Given the description of an element on the screen output the (x, y) to click on. 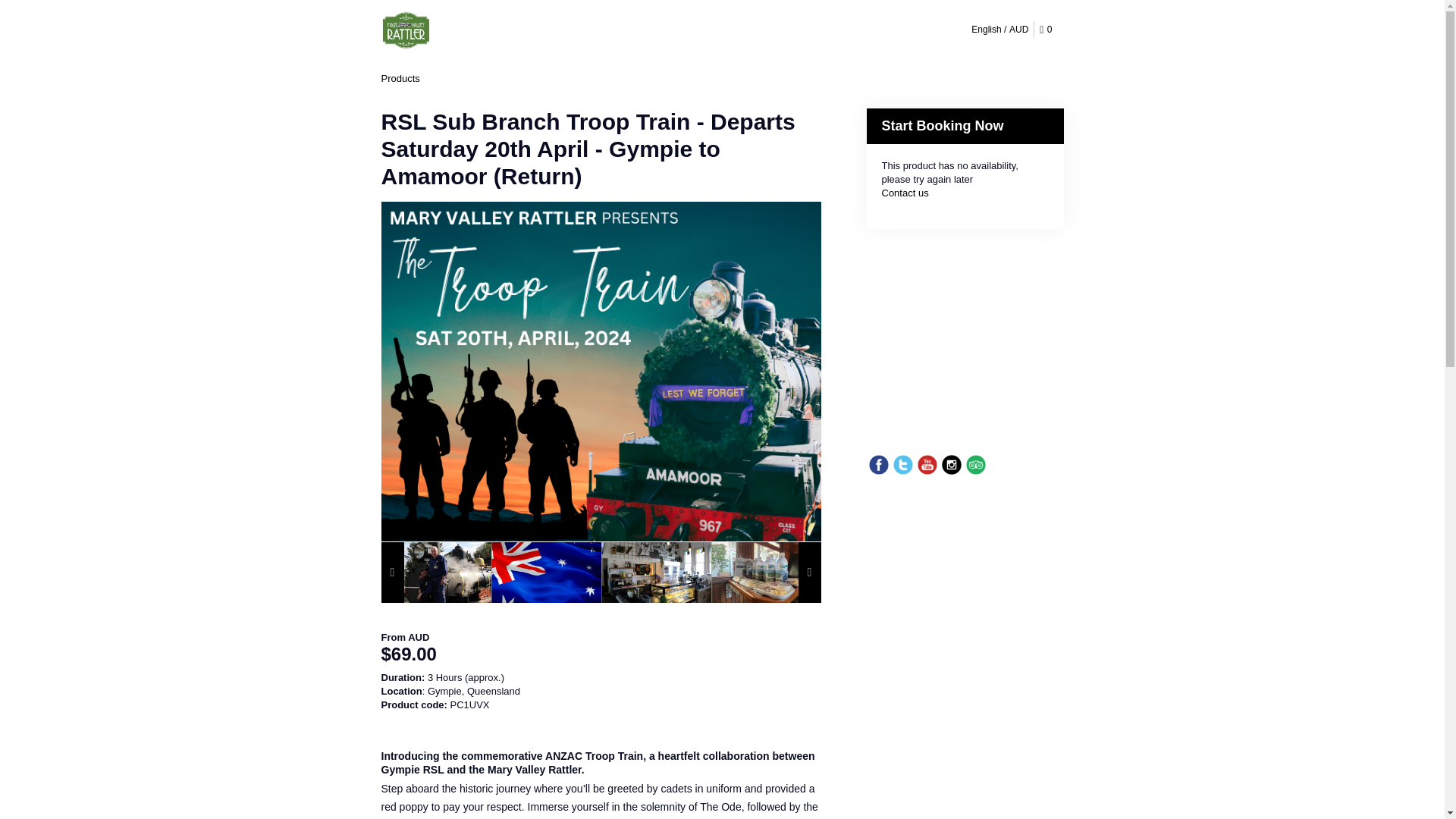
English AUD (999, 29)
0 (1047, 30)
Products (399, 78)
